Given the description of an element on the screen output the (x, y) to click on. 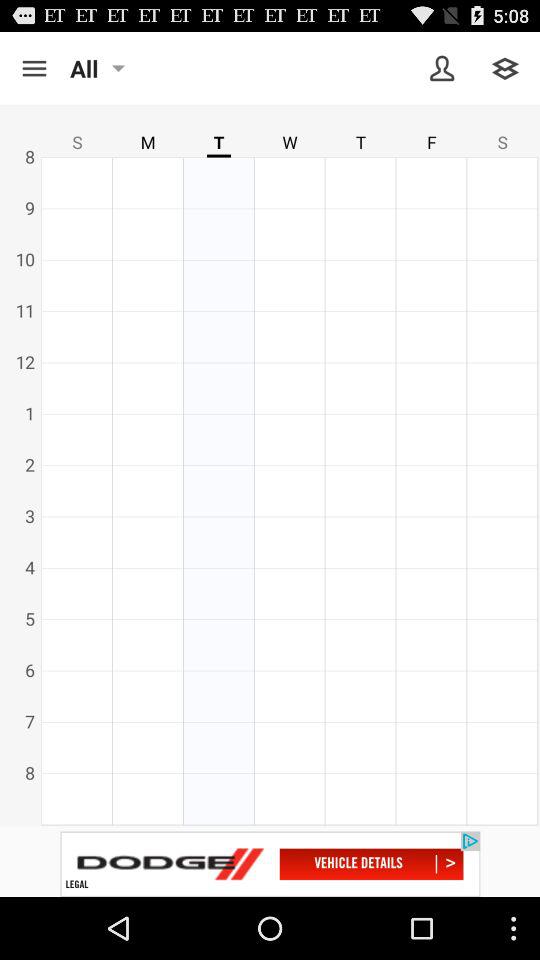
more information about an advertisement (270, 864)
